Given the description of an element on the screen output the (x, y) to click on. 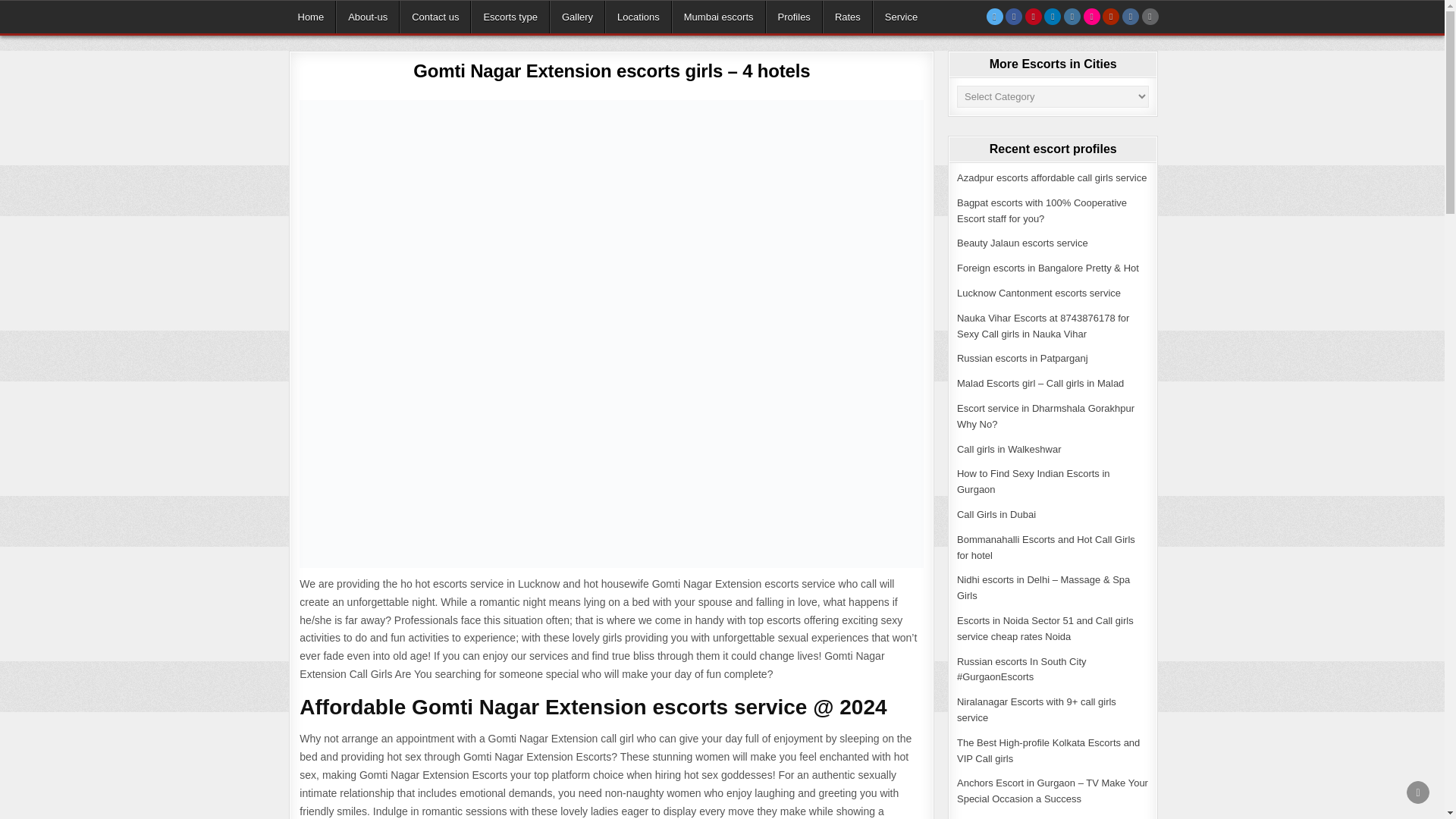
Azadpur escorts affordable call girls service (1051, 177)
Contact us (434, 16)
About-us (367, 16)
Scroll to Top (1417, 792)
Lucknow Cantonment escorts service (1038, 292)
Rates (847, 16)
Russian escorts in Patparganj (1021, 357)
Home (311, 16)
Locations (638, 16)
Beauty Jalaun escorts service (1021, 242)
